Given the description of an element on the screen output the (x, y) to click on. 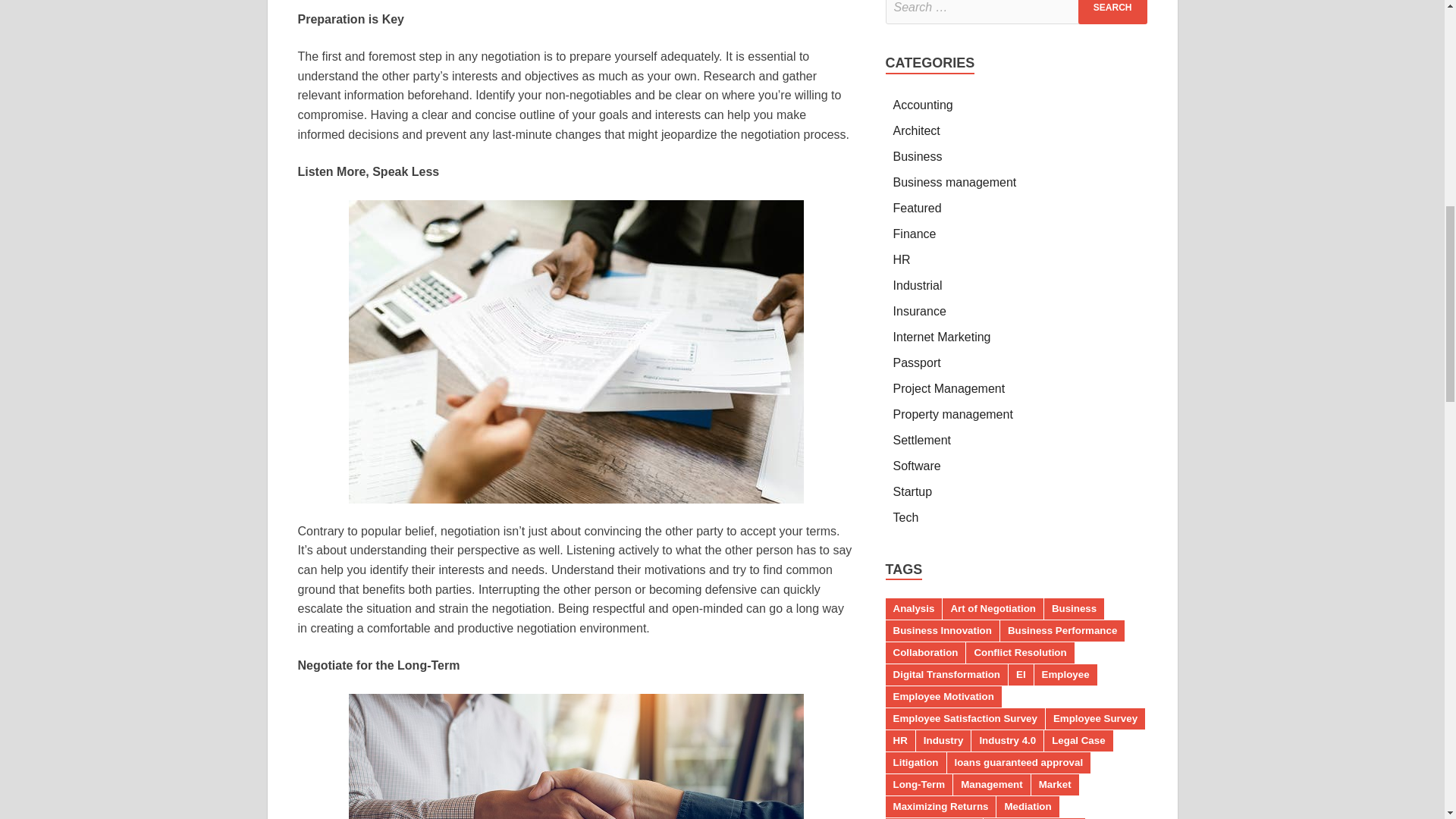
Search (1112, 12)
Search (1112, 12)
